Given the description of an element on the screen output the (x, y) to click on. 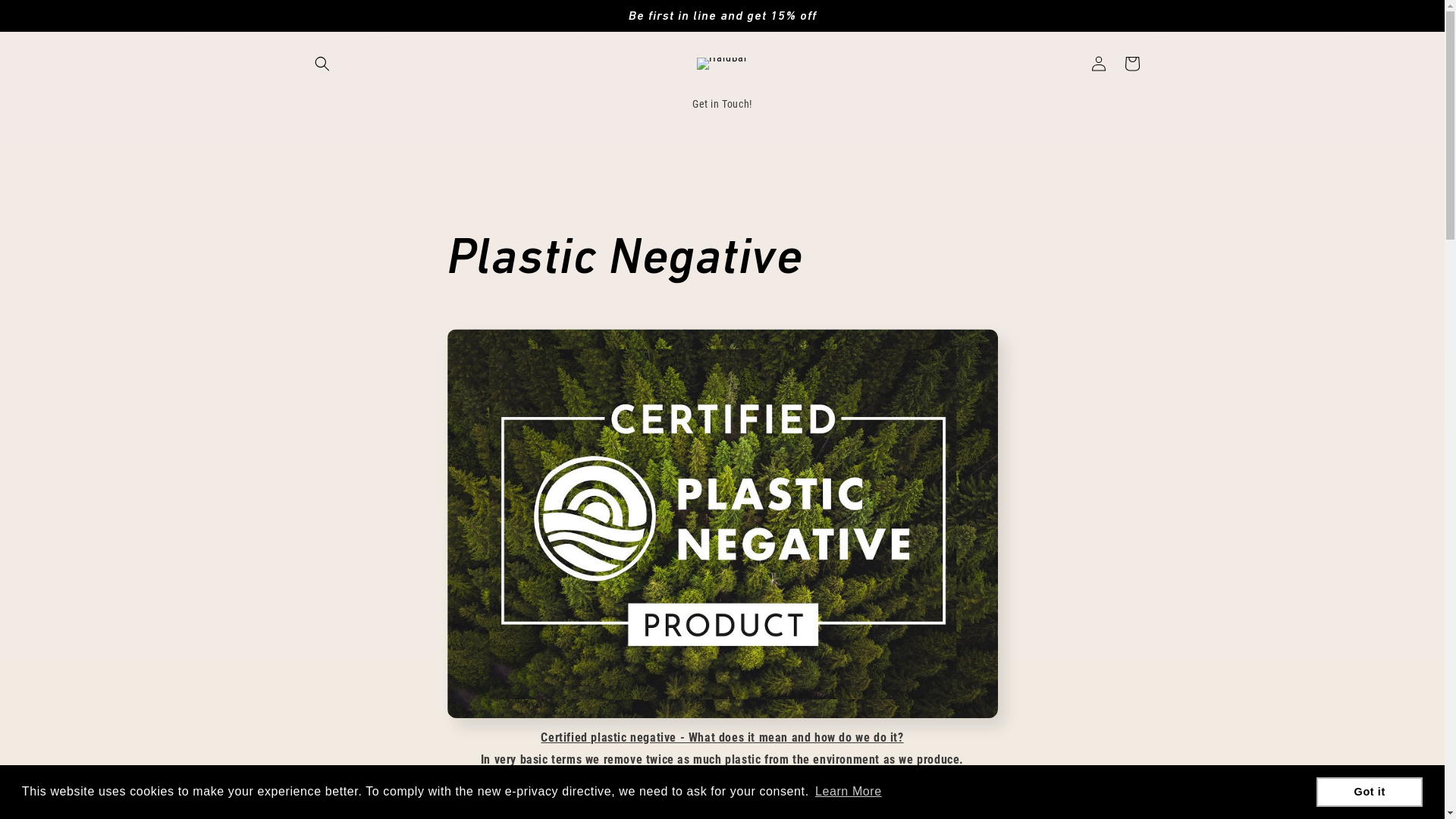
Get in Touch! Element type: text (722, 103)
Cart Element type: text (1131, 63)
Learn More Element type: text (848, 791)
Log in Element type: text (1097, 63)
Got it Element type: text (1369, 791)
